Given the description of an element on the screen output the (x, y) to click on. 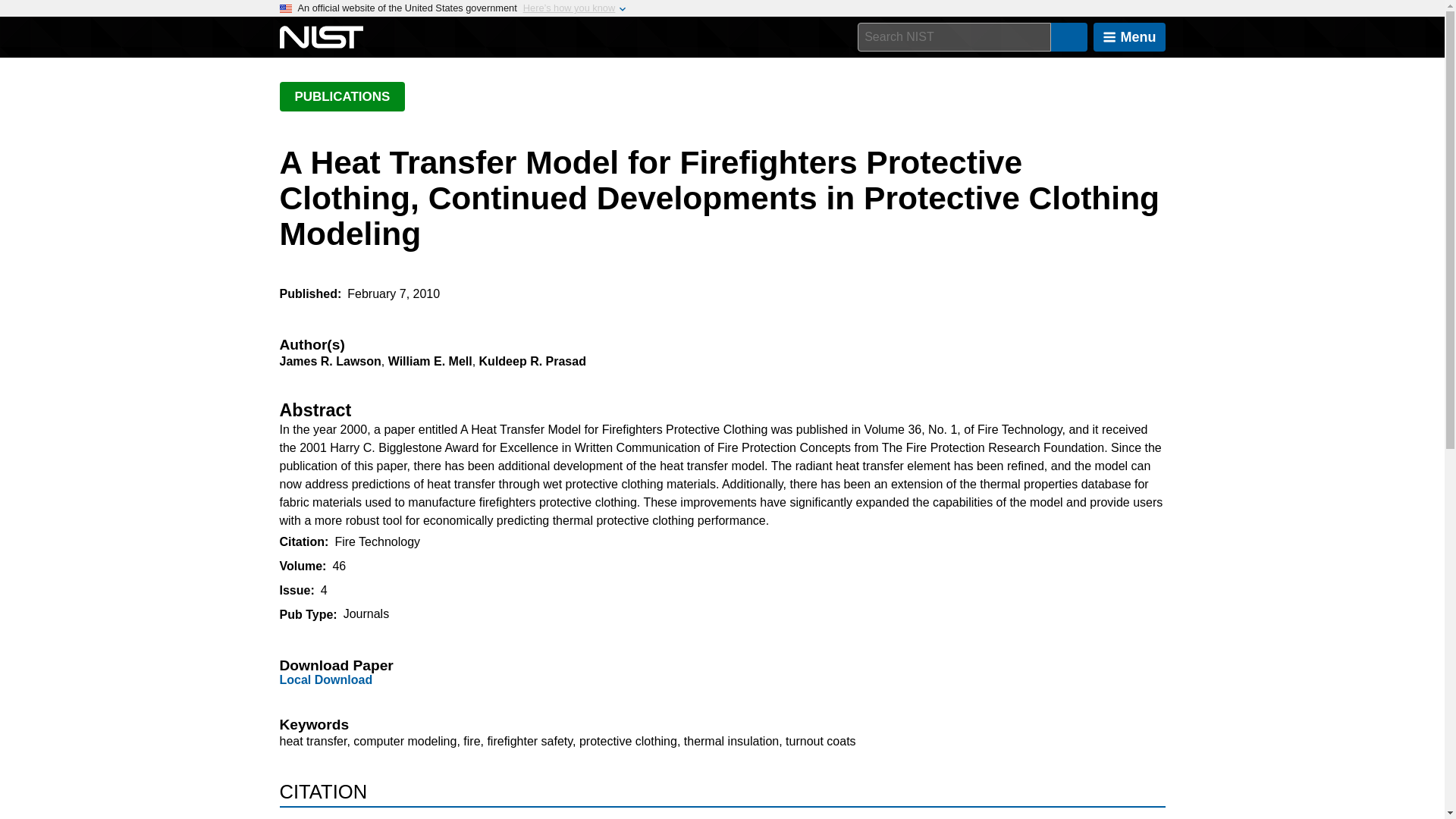
Menu (1129, 36)
National Institute of Standards and Technology (320, 36)
